Given the description of an element on the screen output the (x, y) to click on. 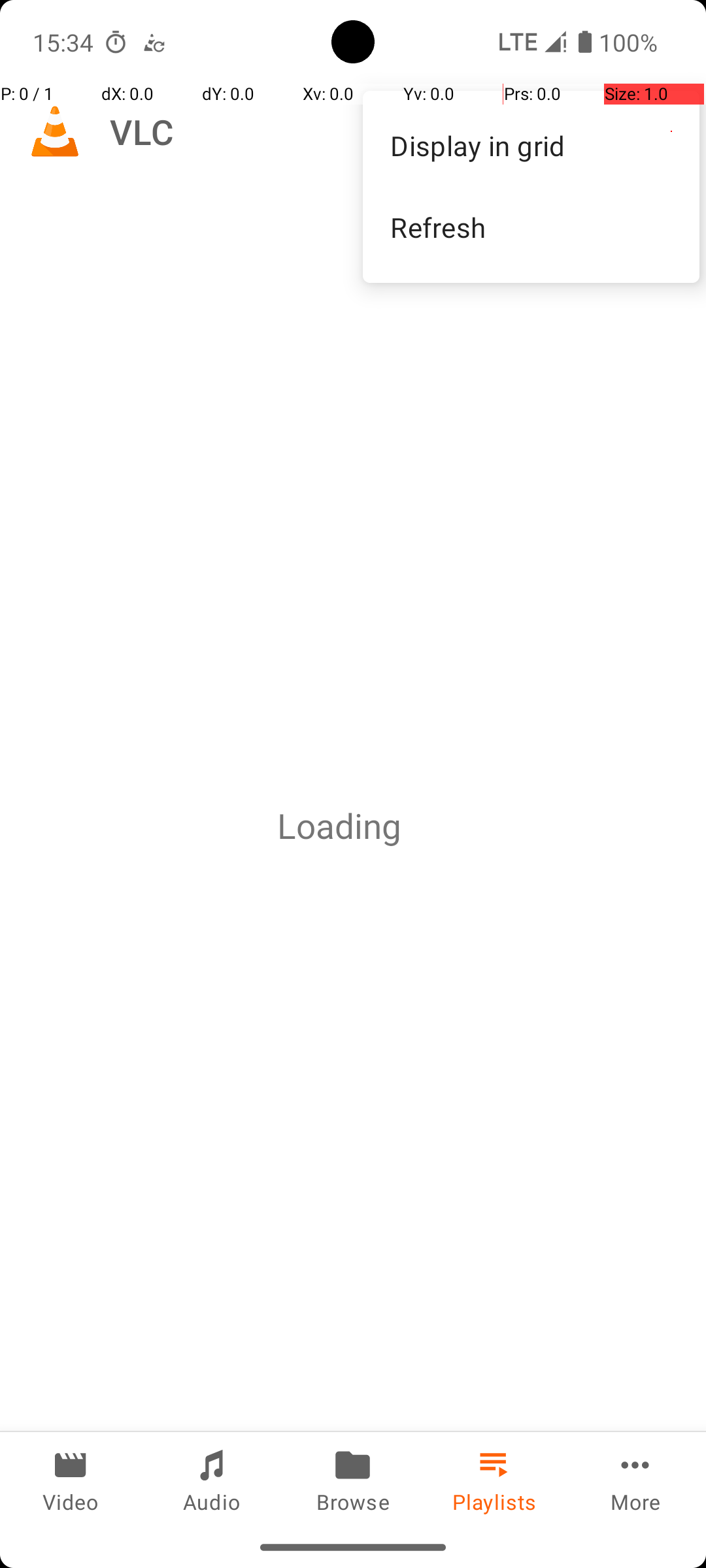
Display in grid Element type: android.widget.TextView (531, 144)
